Given the description of an element on the screen output the (x, y) to click on. 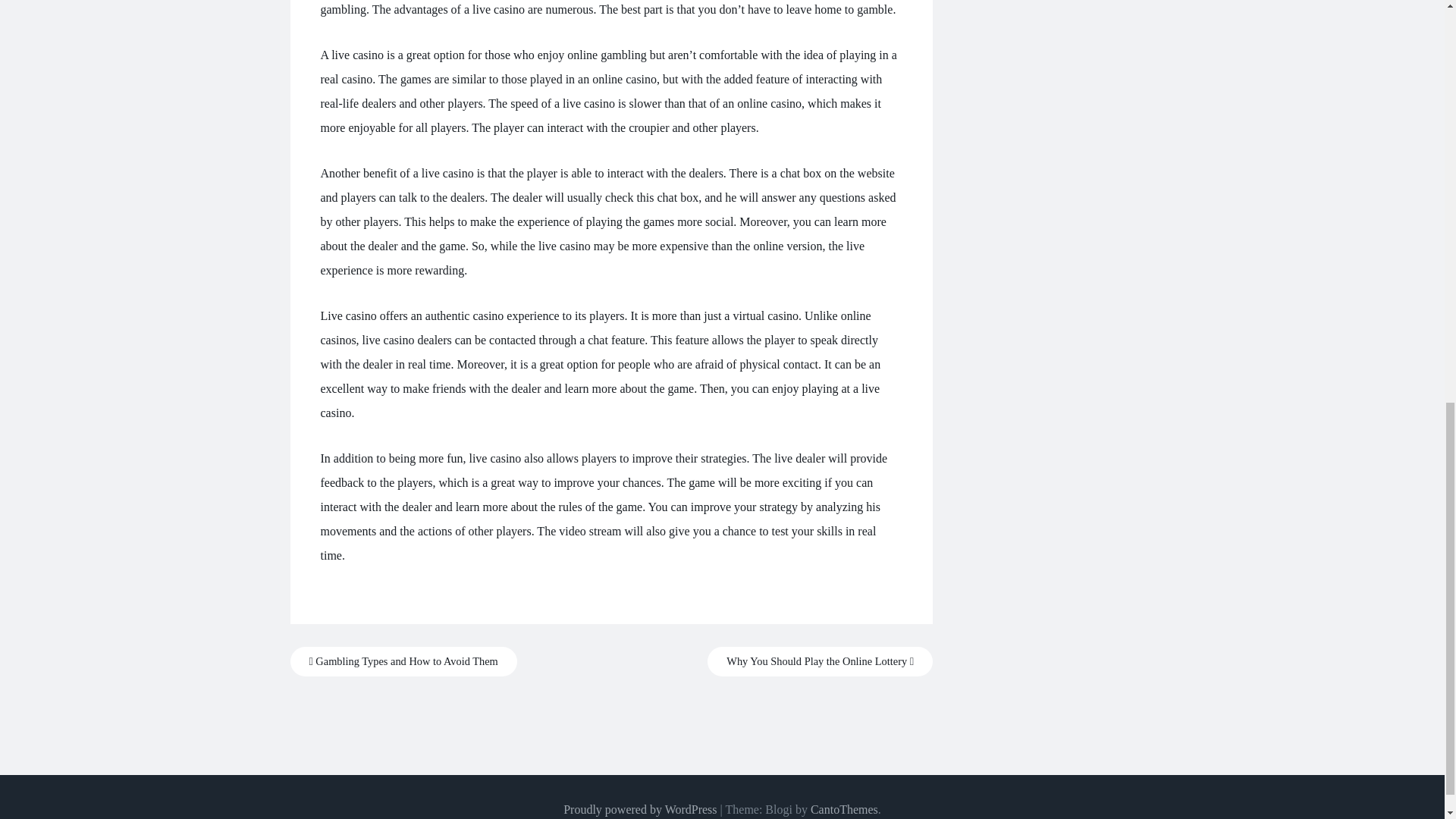
CantoThemes (843, 809)
Proudly powered by WordPress (639, 809)
Why You Should Play the Online Lottery (820, 661)
Gambling Types and How to Avoid Them (402, 661)
